Given the description of an element on the screen output the (x, y) to click on. 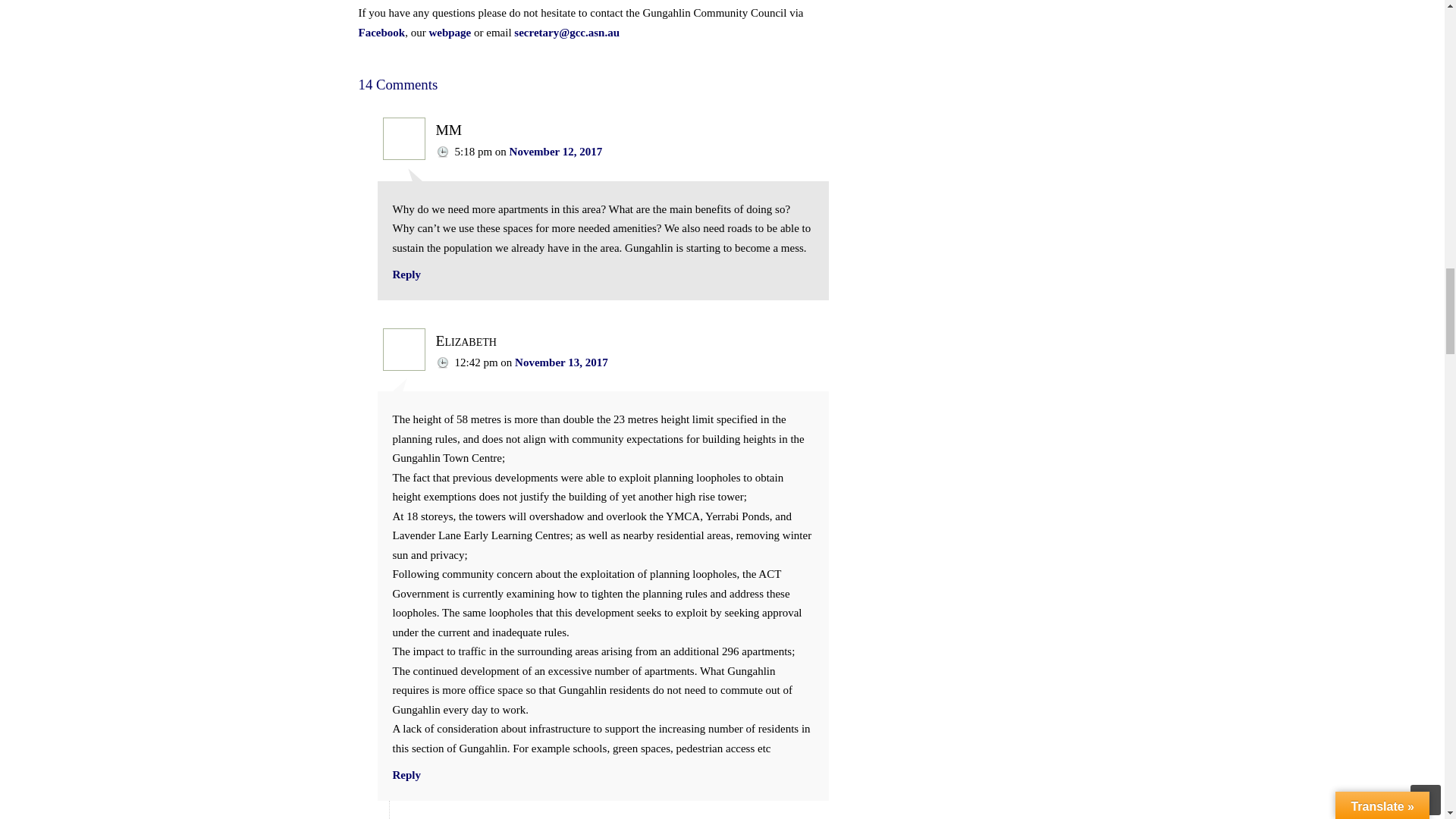
Facebook (381, 32)
November 12, 2017 (555, 151)
Reply (407, 274)
Reply (407, 775)
November 13, 2017 (561, 362)
November 12, 2017 (555, 151)
November 13, 2017 (561, 362)
webpage (449, 32)
